Given the description of an element on the screen output the (x, y) to click on. 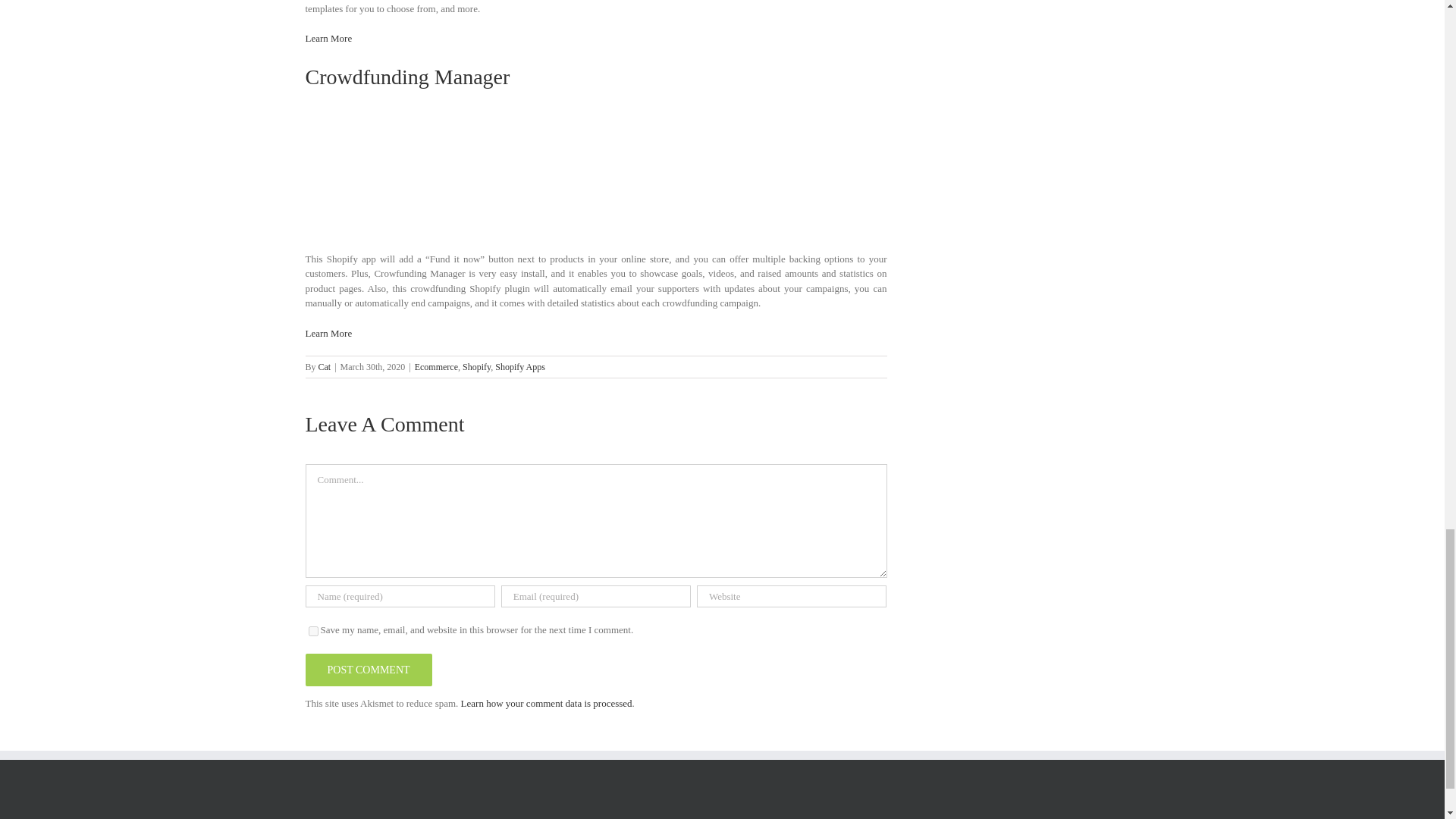
Learn More (328, 333)
Cat (324, 366)
Ecommerce (436, 366)
Learn More (328, 38)
Post Comment (367, 669)
yes (312, 631)
Posts by Cat (324, 366)
Shopify (476, 366)
Shopify Apps (519, 366)
